Given the description of an element on the screen output the (x, y) to click on. 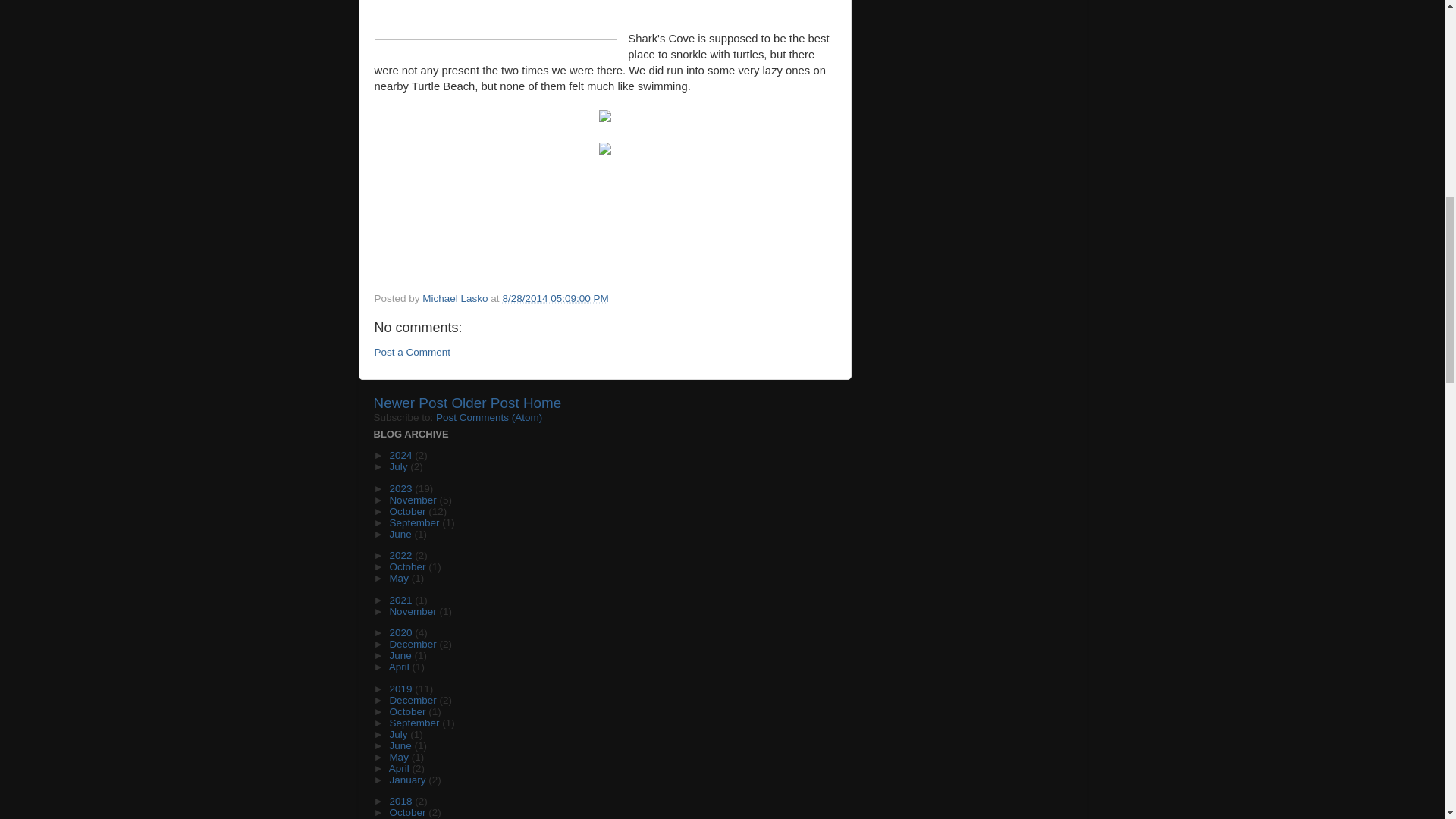
October (408, 566)
Newer Post (409, 402)
July (399, 466)
November (413, 611)
November (413, 500)
September (415, 522)
2021 (401, 600)
Home (541, 402)
Post a Comment (412, 351)
2022 (401, 555)
June (400, 533)
Newer Post (409, 402)
author profile (456, 297)
2024 (401, 455)
Michael Lasko (456, 297)
